Given the description of an element on the screen output the (x, y) to click on. 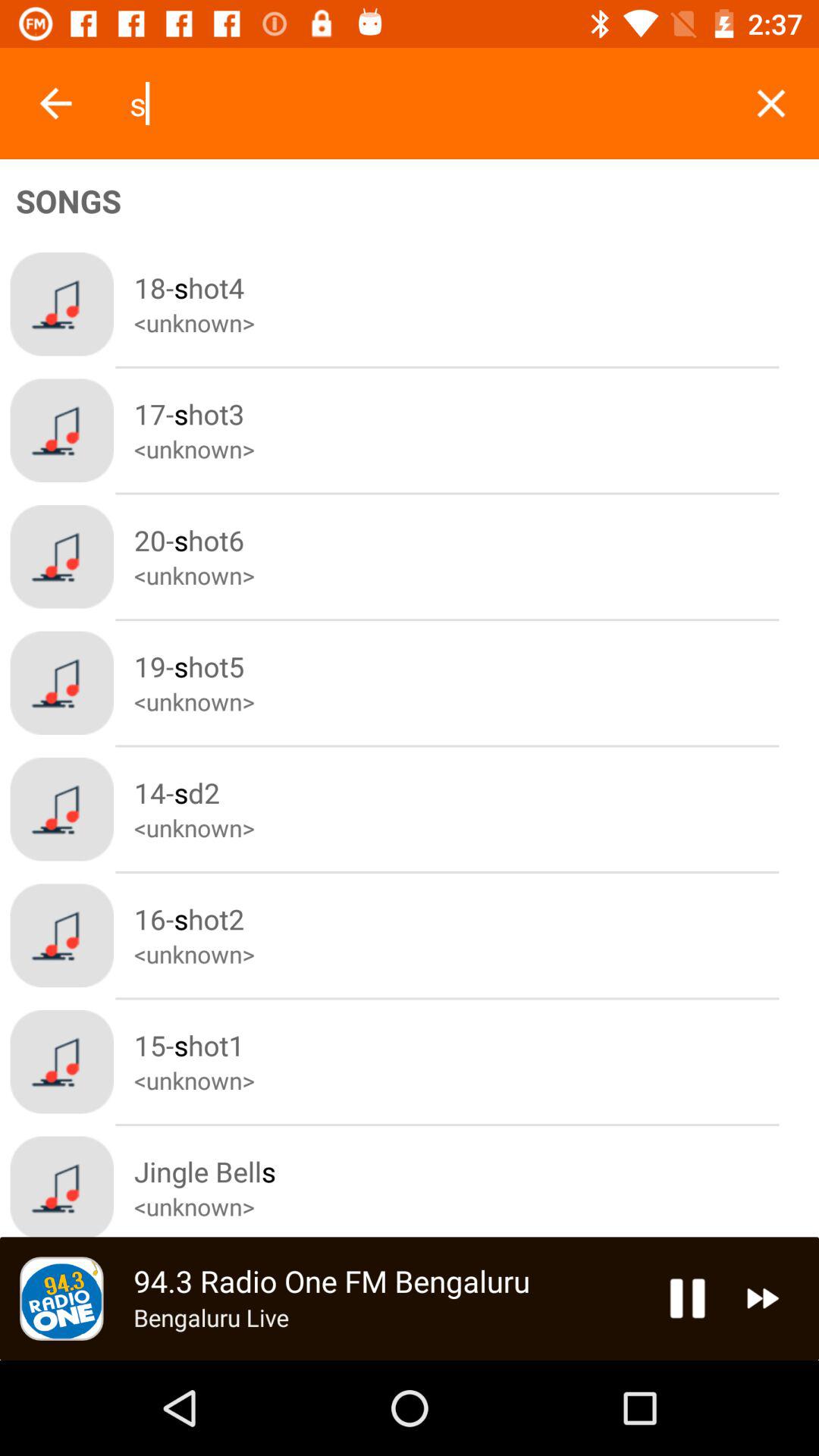
pause song (687, 1298)
